Given the description of an element on the screen output the (x, y) to click on. 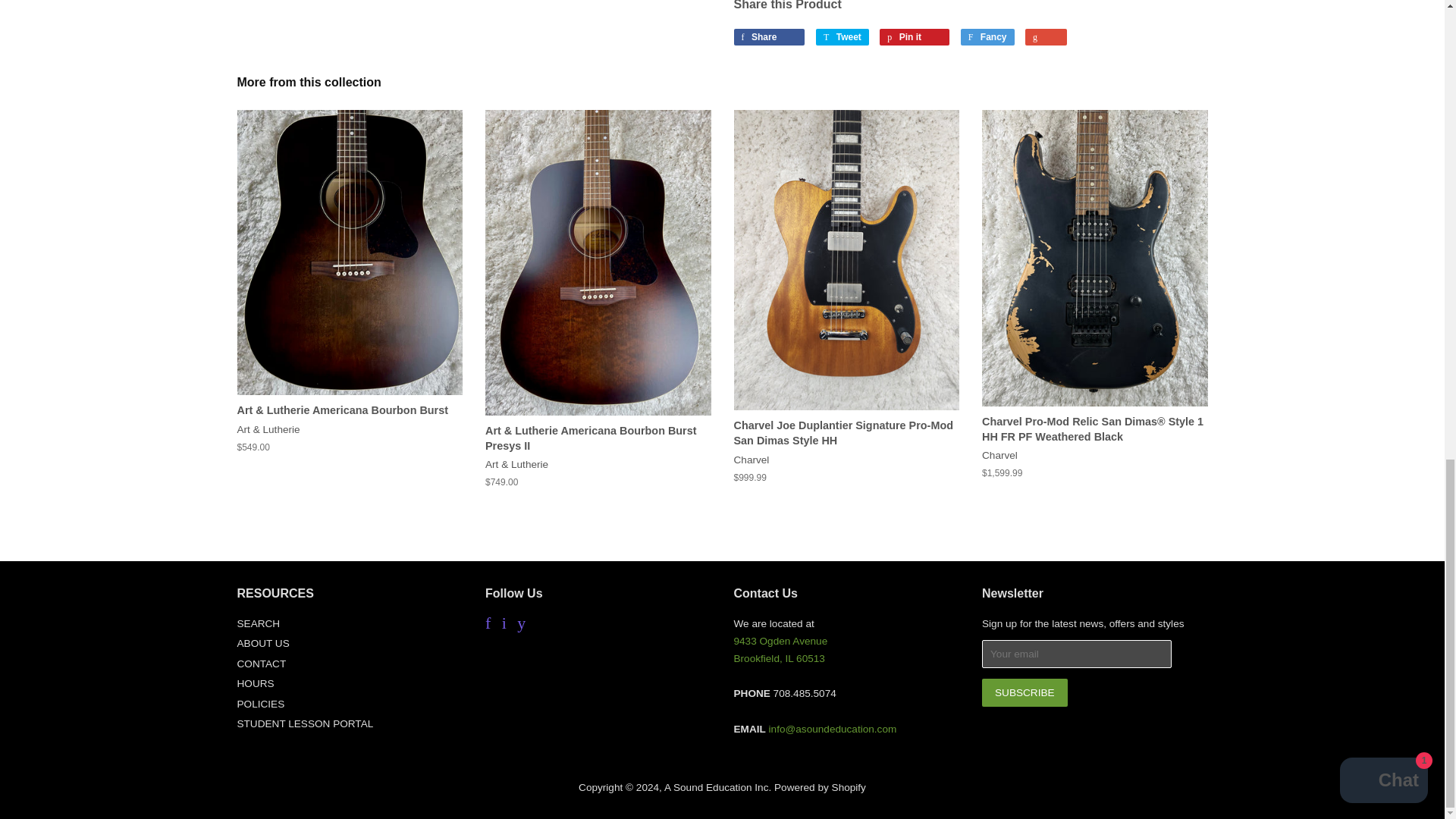
A Sound Education Inc on Instagram (504, 624)
Subscribe (1024, 692)
A Sound Education Inc on YouTube (520, 624)
A Sound Education Inc on Facebook (487, 624)
